Given the description of an element on the screen output the (x, y) to click on. 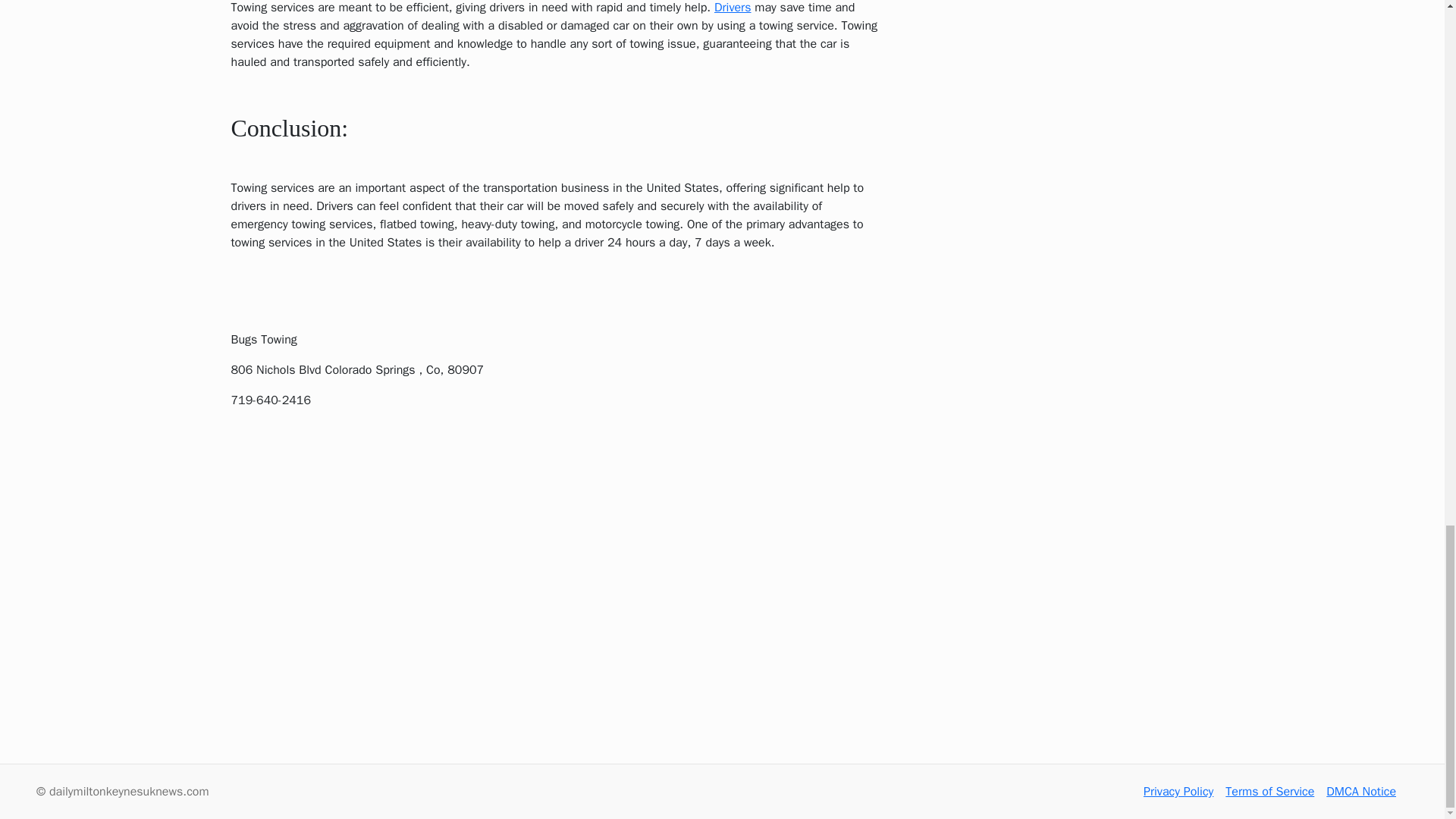
Terms of Service (1269, 791)
Drivers (732, 7)
Privacy Policy (1177, 791)
DMCA Notice (1361, 791)
